Given the description of an element on the screen output the (x, y) to click on. 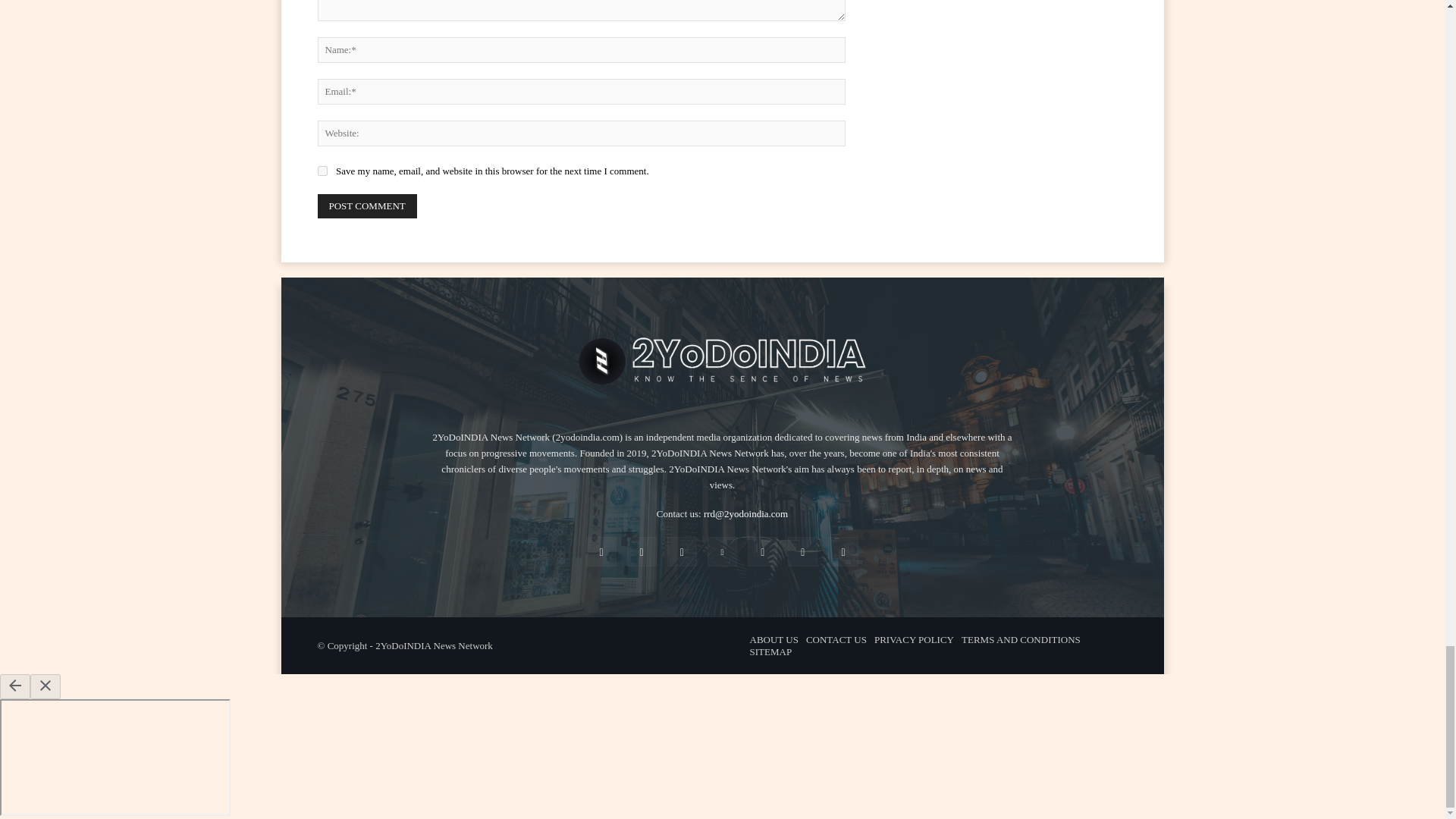
yes (321, 171)
Post Comment (366, 206)
